Given the description of an element on the screen output the (x, y) to click on. 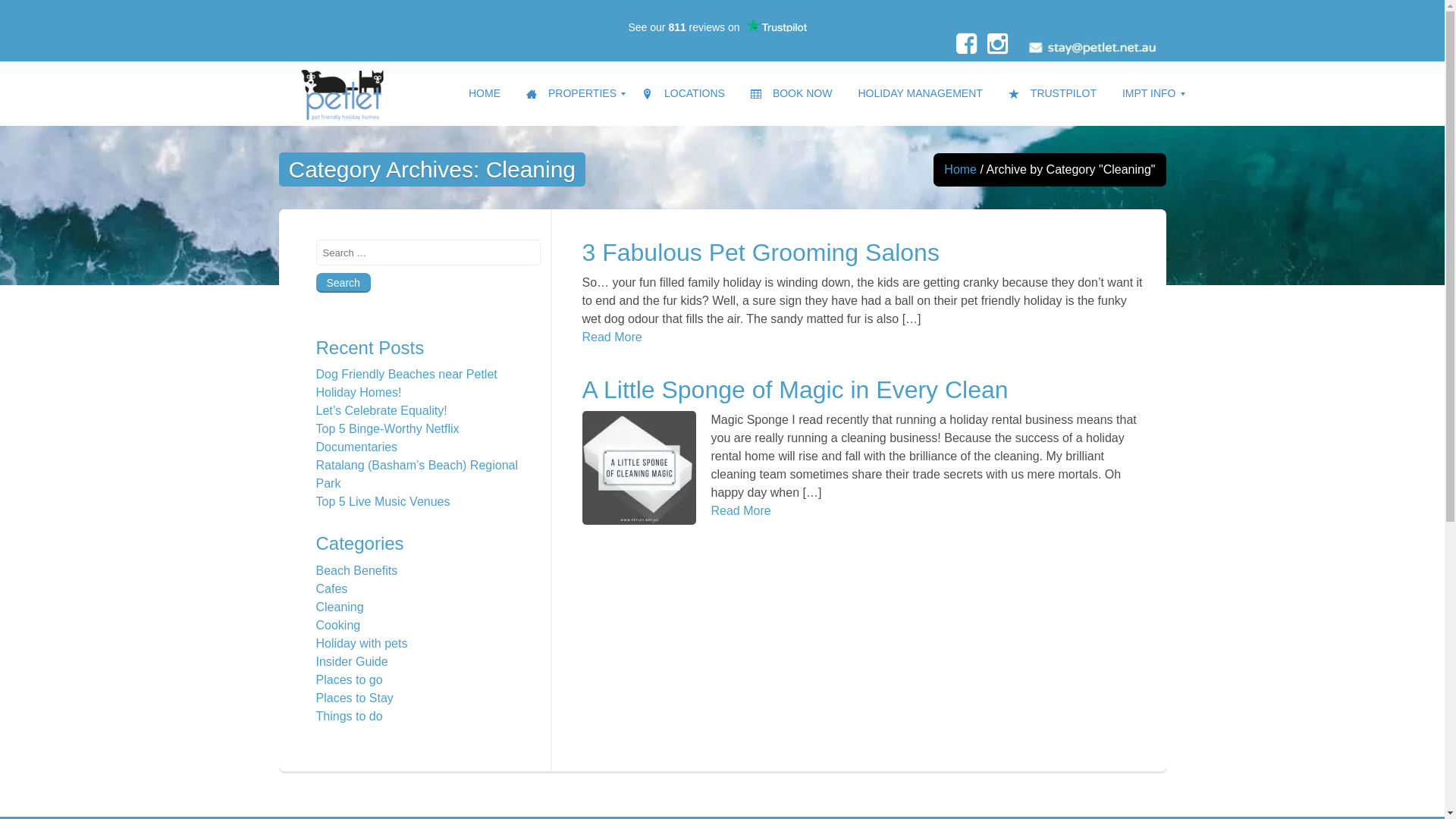
PROPERTIES Element type: text (571, 93)
Cleaning Element type: text (339, 606)
Insider Guide Element type: text (351, 661)
Home Element type: text (960, 169)
Facebook Element type: hover (966, 47)
IMPT INFO Element type: text (1149, 93)
A Little Sponge of Magic in Every Clean Element type: text (795, 389)
Top 5 Binge-Worthy Netflix Documentaries Element type: text (386, 437)
Cafes Element type: text (331, 588)
Read More Element type: text (741, 510)
Places to Stay Element type: text (353, 697)
3 Fabulous Pet Grooming Salons Element type: text (760, 252)
Places to go Element type: text (348, 679)
Instagram Element type: hover (997, 47)
Customer reviews powered by Trustpilot Element type: hover (717, 24)
BOOK NOW Element type: text (791, 93)
Beach Benefits Element type: text (356, 570)
Cooking Element type: text (337, 624)
Top 5 Live Music Venues Element type: text (382, 501)
TRUSTPILOT Element type: text (1052, 93)
Read More Element type: text (612, 336)
Dog Friendly Beaches near Petlet Holiday Homes! Element type: text (405, 382)
HOME Element type: text (484, 93)
Holiday with pets Element type: text (361, 643)
Search Element type: text (342, 282)
Things to do Element type: text (348, 715)
LOCATIONS Element type: text (683, 93)
HOLIDAY MANAGEMENT Element type: text (919, 93)
